Given the description of an element on the screen output the (x, y) to click on. 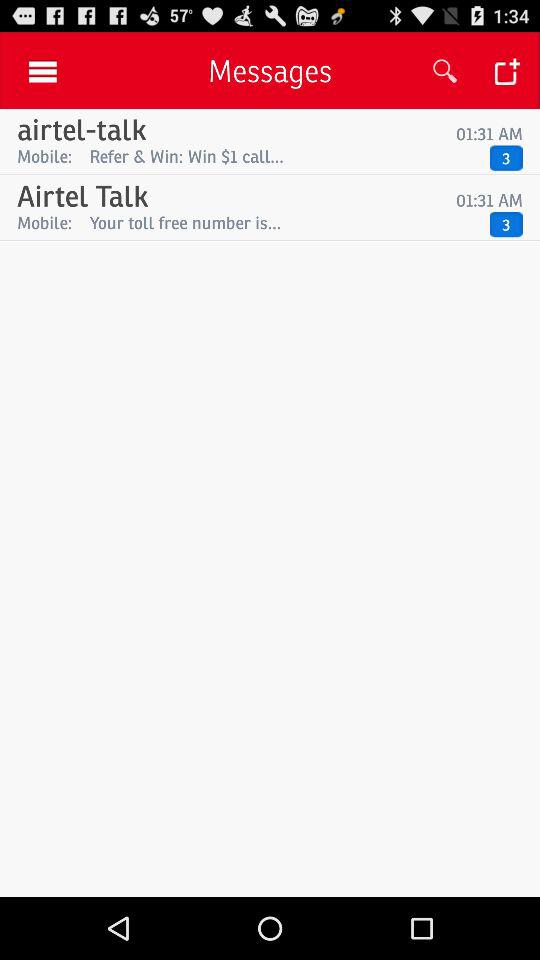
scroll to refer win win item (284, 156)
